Given the description of an element on the screen output the (x, y) to click on. 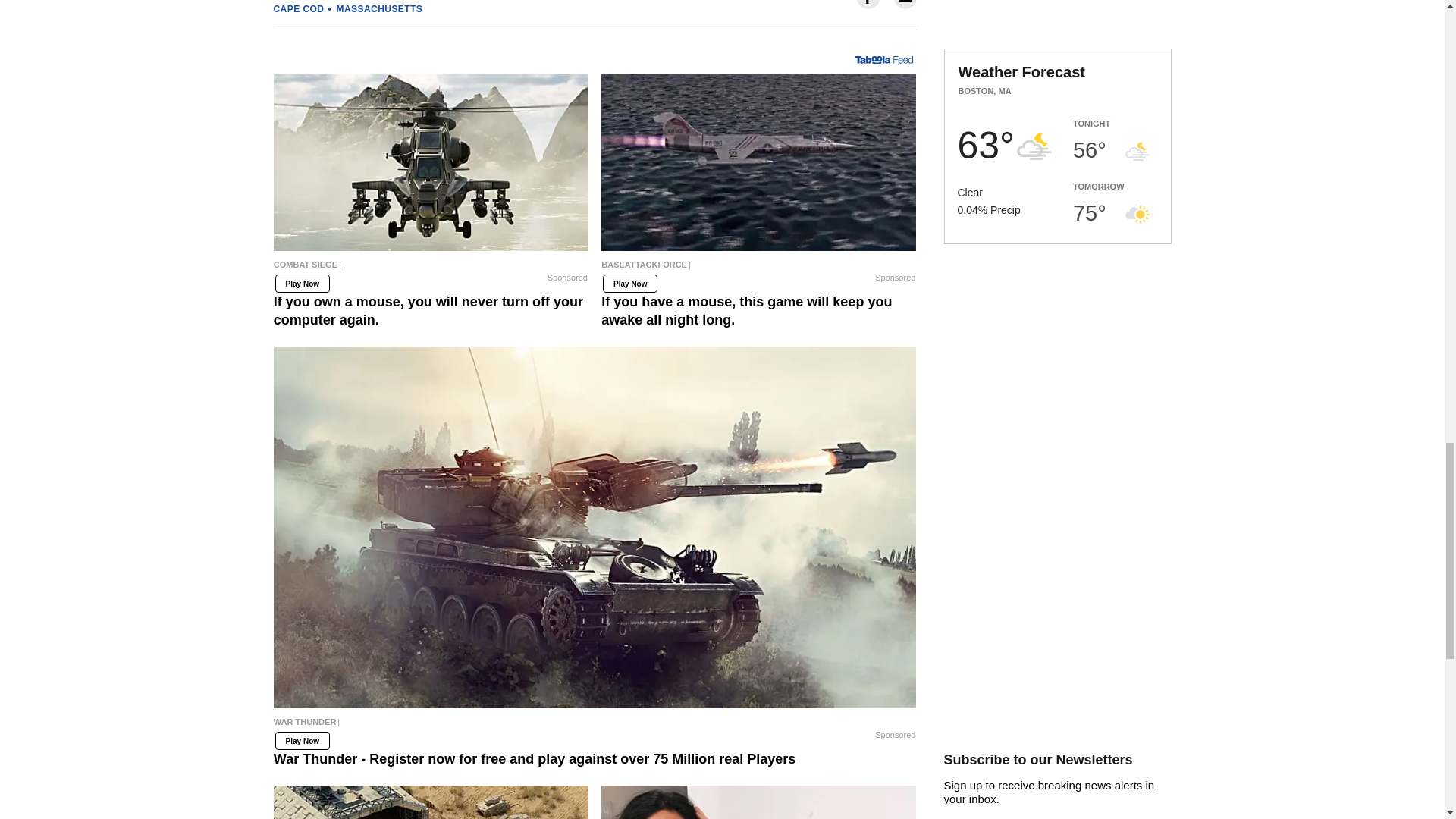
Fertility Clinics Might Be Better Than You Think (758, 802)
